Given the description of an element on the screen output the (x, y) to click on. 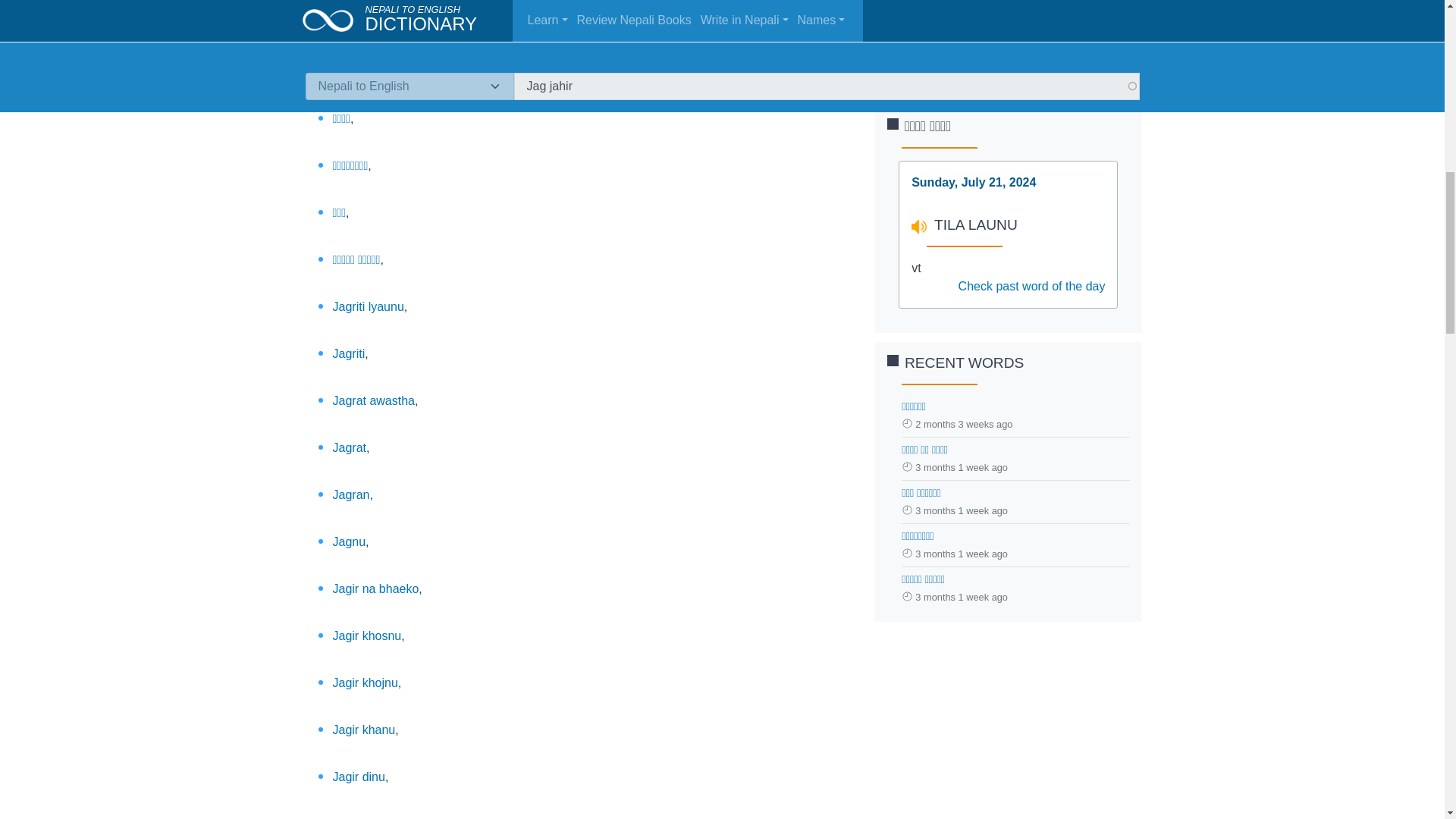
Jagriti lyaunu (367, 306)
Jagriti (348, 353)
